Given the description of an element on the screen output the (x, y) to click on. 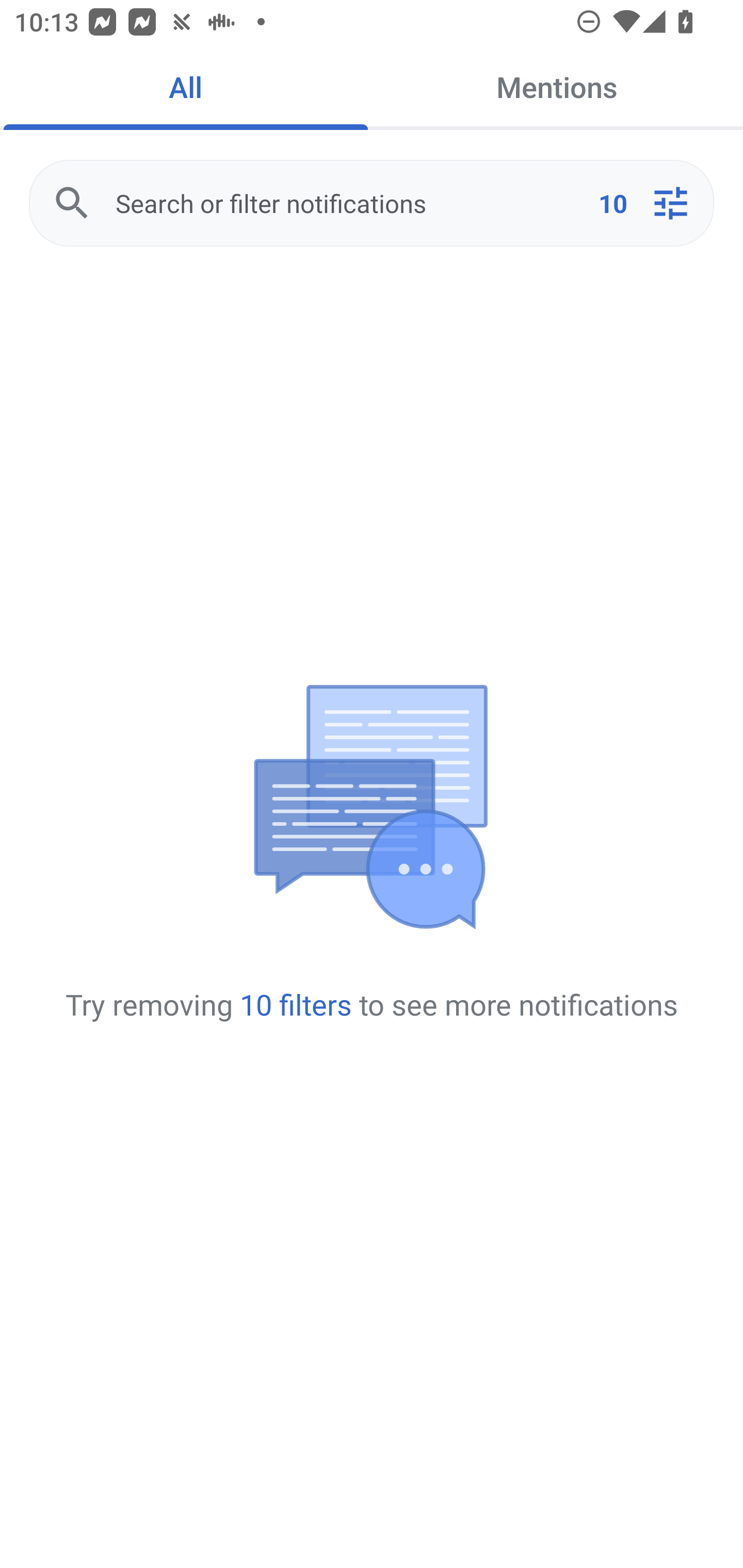
Mentions (557, 86)
Notification filter (670, 202)
